Given the description of an element on the screen output the (x, y) to click on. 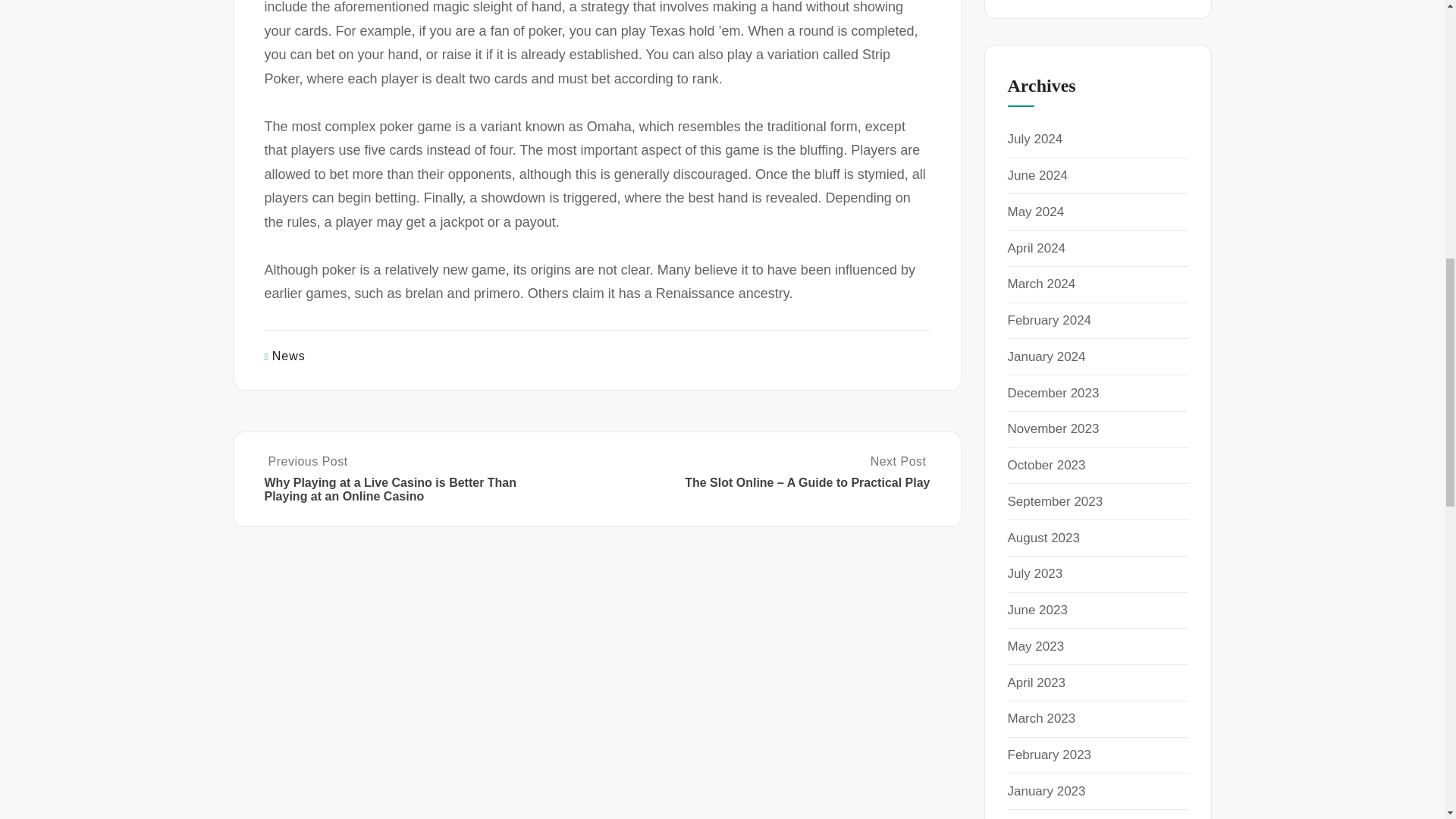
February 2023 (1048, 754)
September 2023 (1054, 501)
July 2024 (1034, 138)
February 2024 (1048, 319)
November 2023 (1053, 428)
May 2024 (1035, 211)
March 2024 (1041, 283)
News (288, 355)
December 2023 (1053, 392)
July 2023 (1034, 573)
